Given the description of an element on the screen output the (x, y) to click on. 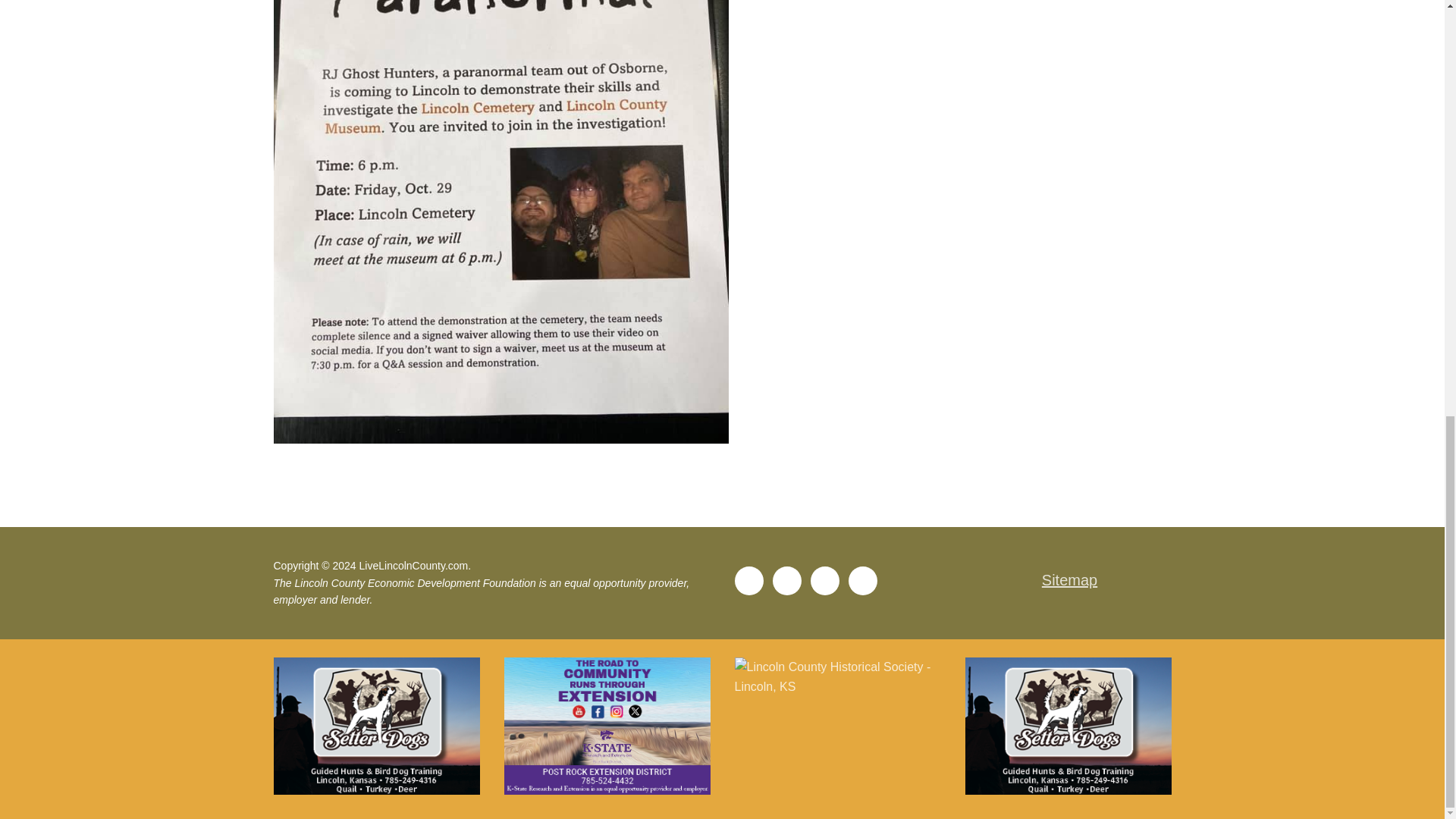
Youtube (823, 581)
Twitter (785, 581)
Instagram (862, 581)
Facebook (748, 581)
